Given the description of an element on the screen output the (x, y) to click on. 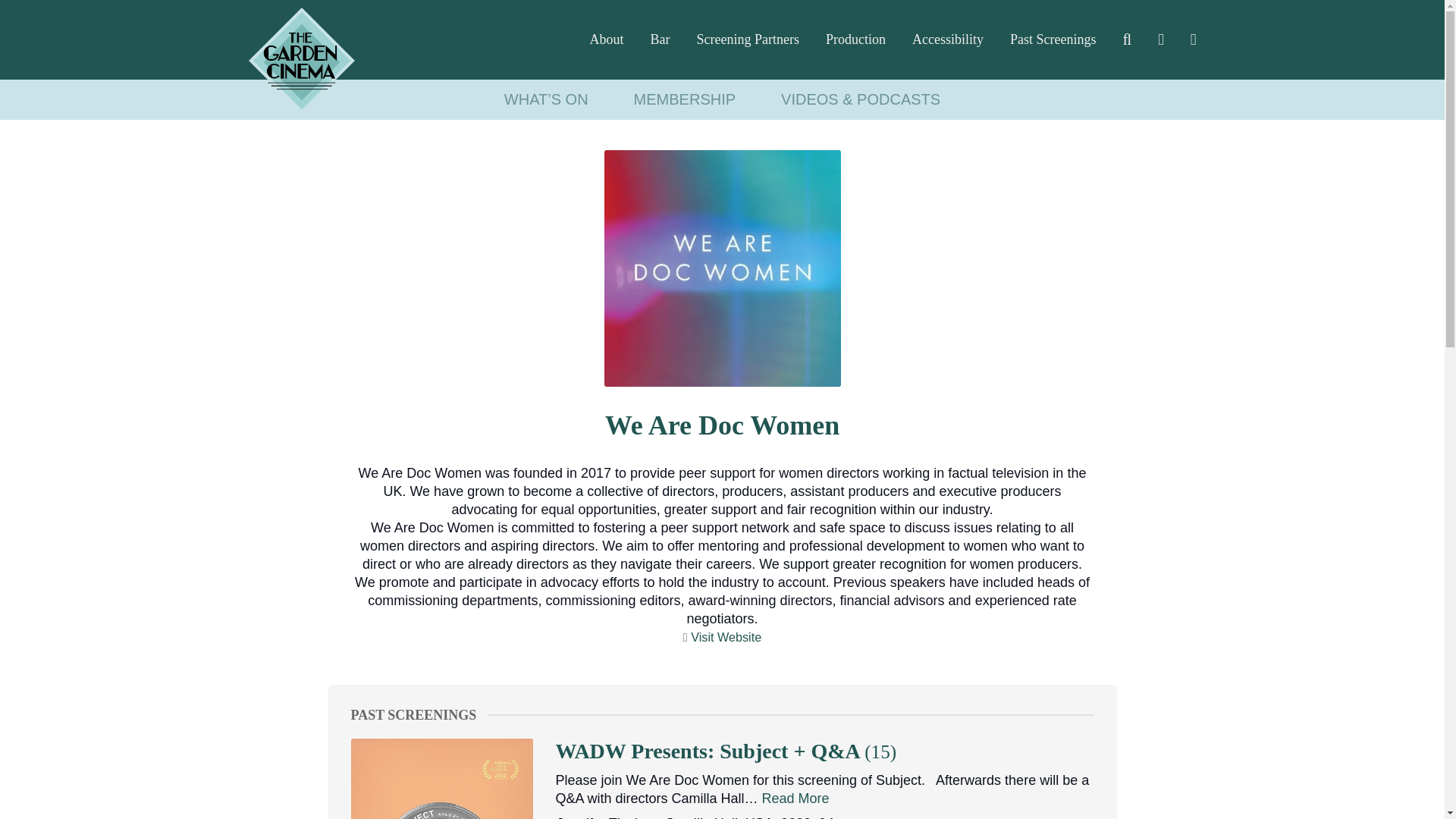
Accessibility (948, 38)
Screening Partners (748, 38)
Production (855, 38)
Bar (659, 38)
About (606, 38)
MEMBERSHIP (684, 99)
Visit Website (725, 636)
Past Screenings (1053, 38)
